Given the description of an element on the screen output the (x, y) to click on. 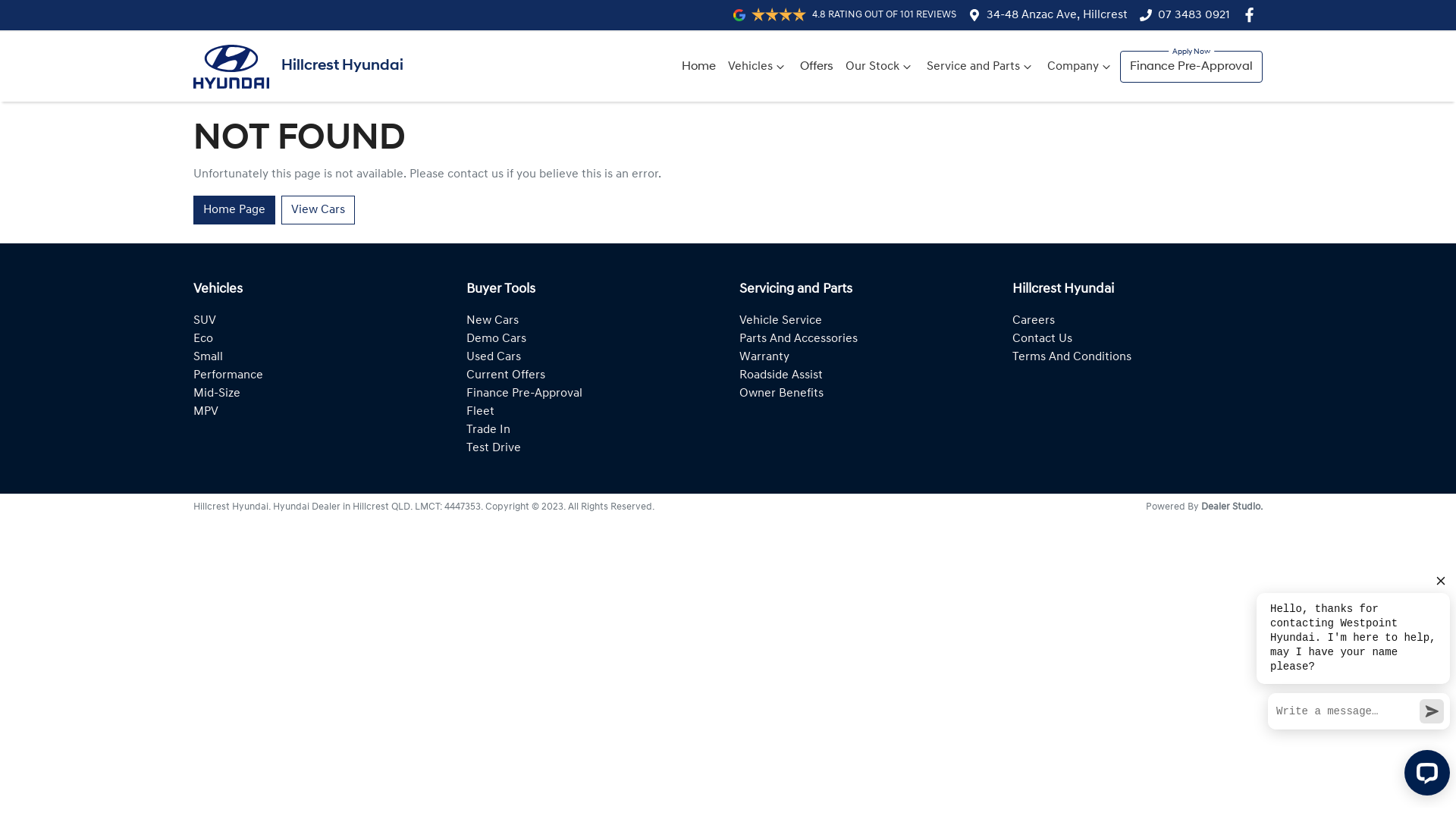
Finance Pre-Approval Element type: text (1191, 66)
Offers Element type: text (816, 66)
Performance Element type: text (228, 375)
New Cars Element type: text (492, 320)
Dealer Studio. Element type: text (1231, 506)
MPV Element type: text (205, 411)
Terms And Conditions Element type: text (1071, 357)
Company Element type: text (1080, 66)
Vehicles Element type: text (757, 66)
Test Drive Element type: text (493, 448)
Small Element type: text (207, 357)
Eco Element type: text (203, 338)
Vehicle Service Element type: text (780, 320)
07 3483 0921 Element type: text (1193, 15)
Hillcrest Hyundai Element type: text (298, 66)
Demo Cars Element type: text (496, 338)
Owner Benefits Element type: text (781, 393)
Fleet Element type: text (480, 411)
Mid-Size Element type: text (216, 393)
Home Page Element type: text (234, 209)
Current Offers Element type: text (505, 375)
Finance Pre-Approval Element type: text (524, 393)
Roadside Assist Element type: text (780, 375)
Warranty Element type: text (764, 357)
View Cars Element type: text (317, 209)
Parts And Accessories Element type: text (798, 338)
34-48 Anzac Ave, Hillcrest Element type: text (1056, 15)
Trade In Element type: text (488, 429)
Our Stock Element type: text (879, 66)
Careers Element type: text (1033, 320)
Service and Parts Element type: text (980, 66)
Used Cars Element type: text (493, 357)
Home Element type: text (698, 66)
SUV Element type: text (204, 320)
Contact Us Element type: text (1042, 338)
